Given the description of an element on the screen output the (x, y) to click on. 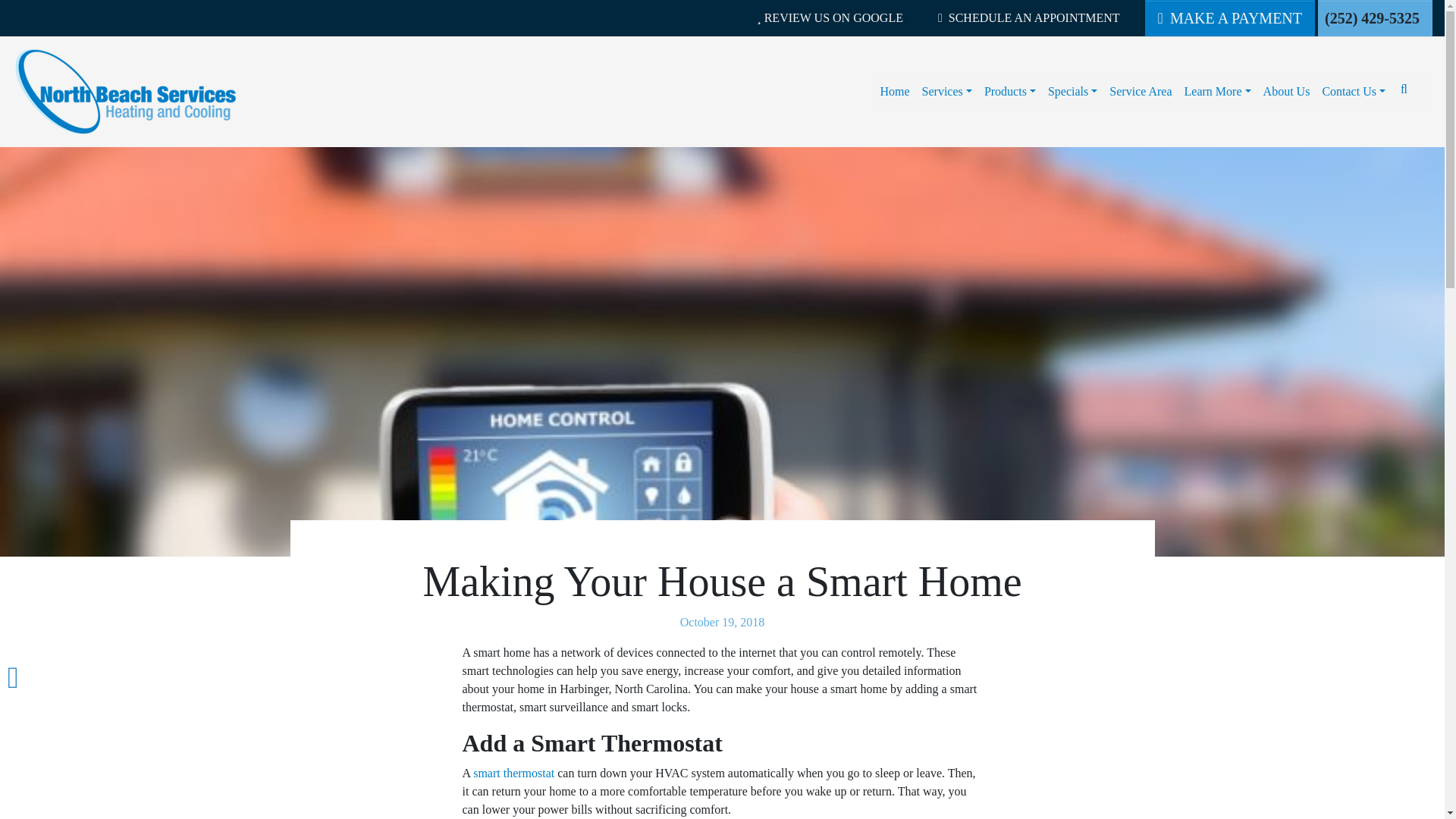
About Us (1286, 91)
Specials (1072, 91)
MAKE A PAYMENT (1229, 18)
SCHEDULE AN APPOINTMENT (1028, 18)
REVIEW US ON GOOGLE (829, 18)
Service Area (1140, 91)
Learn More (1217, 91)
Services (946, 91)
Products (1010, 91)
Home (894, 91)
